Given the description of an element on the screen output the (x, y) to click on. 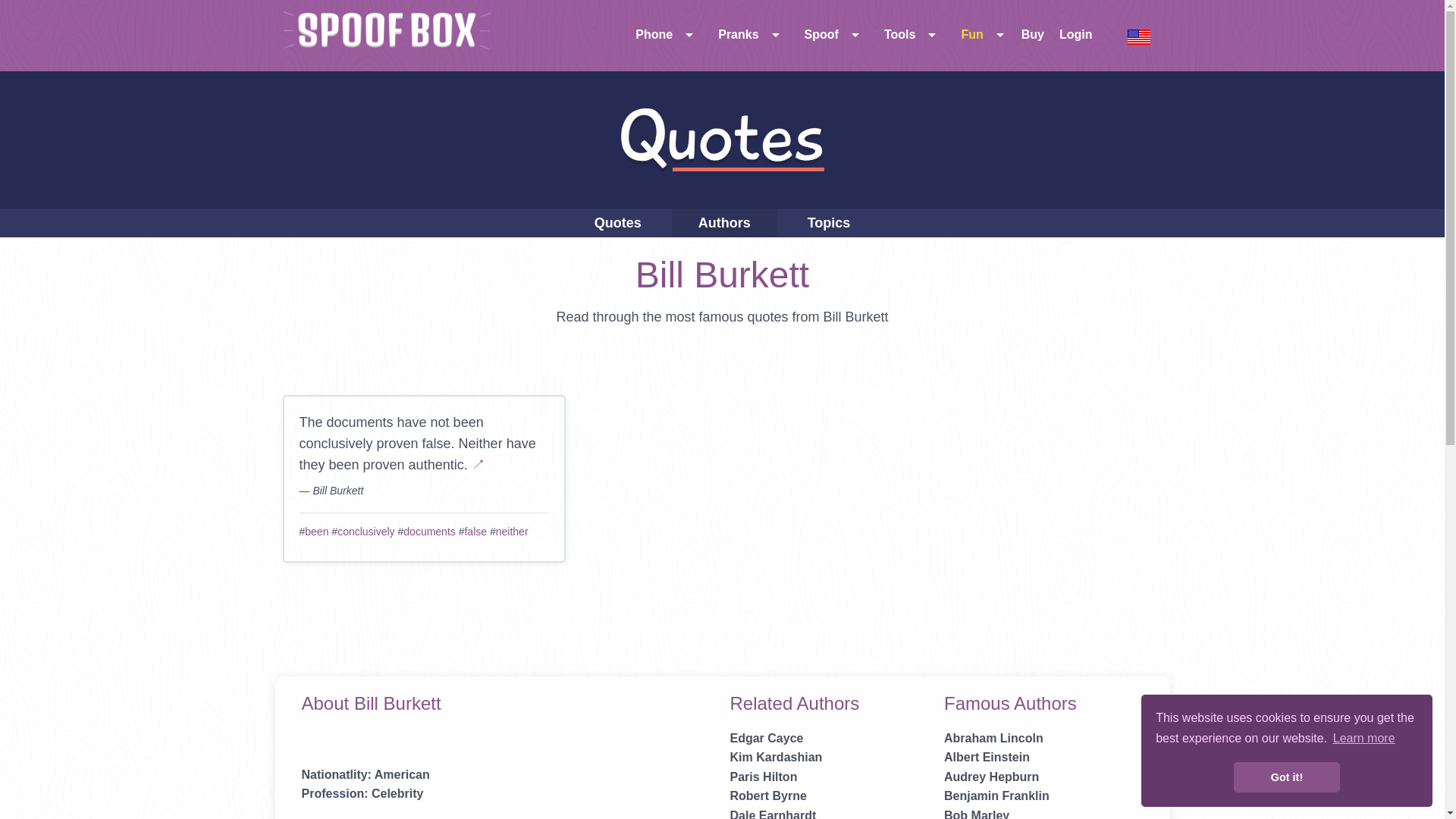
Change language (1138, 35)
Got it! (1286, 777)
Learn more (1363, 738)
